Given the description of an element on the screen output the (x, y) to click on. 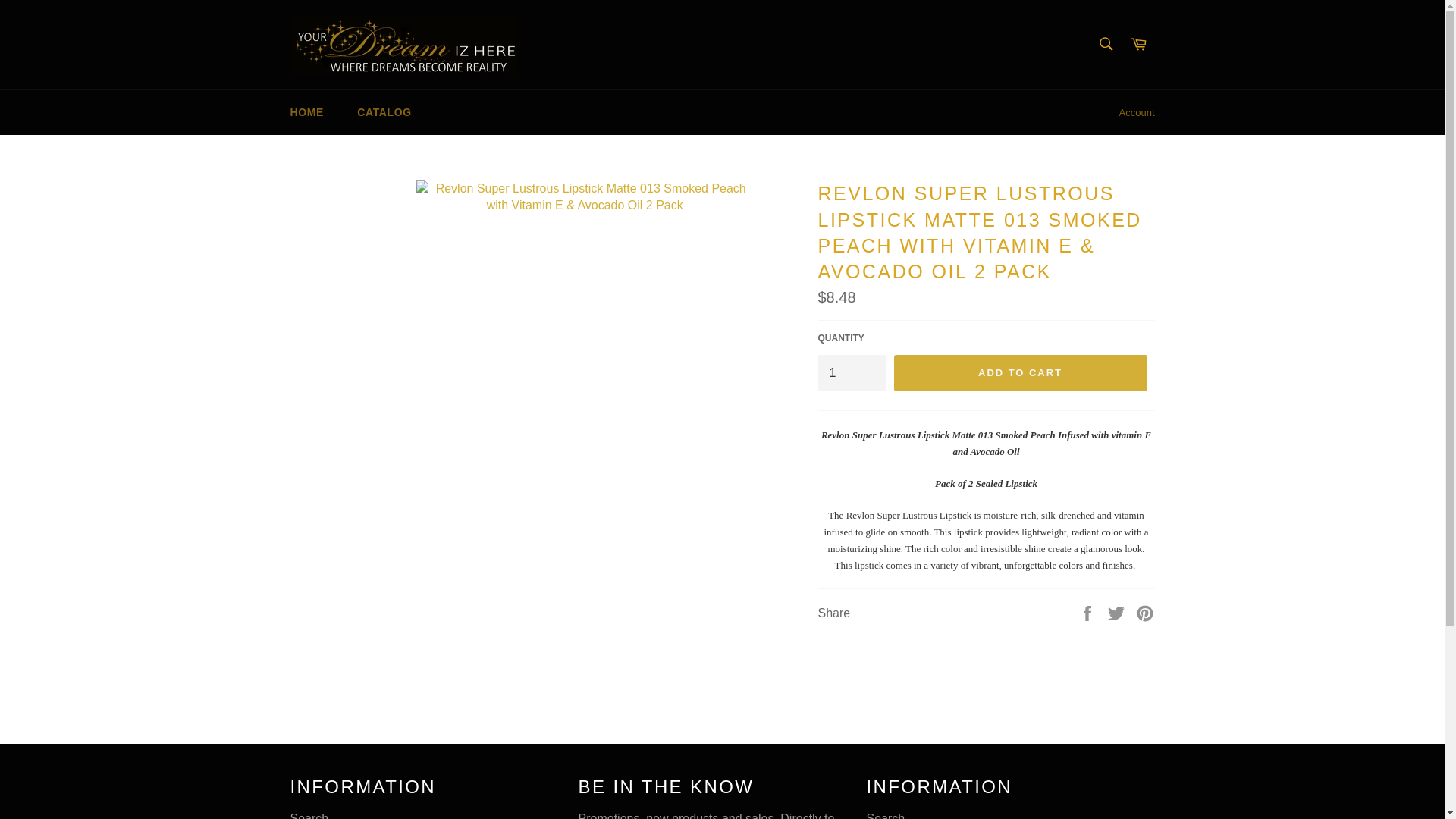
ADD TO CART (1020, 372)
HOME (306, 112)
Search (309, 815)
Share on Facebook (1088, 612)
Pin on Pinterest (1144, 612)
Cart (1138, 44)
CATALOG (384, 112)
Tweet on Twitter (1117, 612)
1 (850, 372)
Account (1136, 112)
